Given the description of an element on the screen output the (x, y) to click on. 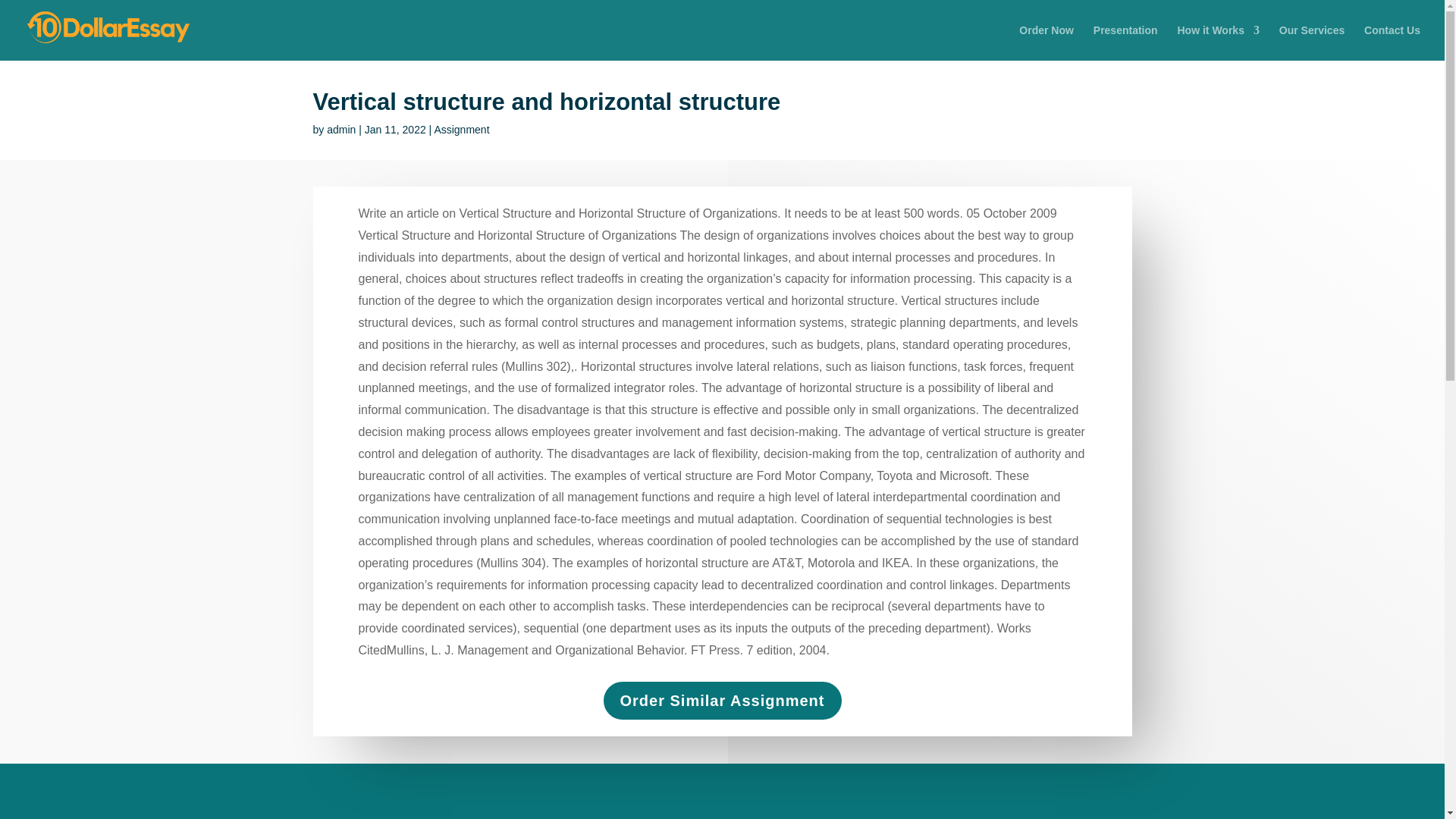
Order Now (1046, 42)
Contact Us (1392, 42)
admin (340, 129)
Posts by admin (340, 129)
How it Works (1217, 42)
Order Similar Assignment (722, 700)
Presentation (1125, 42)
Assignment (461, 129)
Our Services (1311, 42)
